Given the description of an element on the screen output the (x, y) to click on. 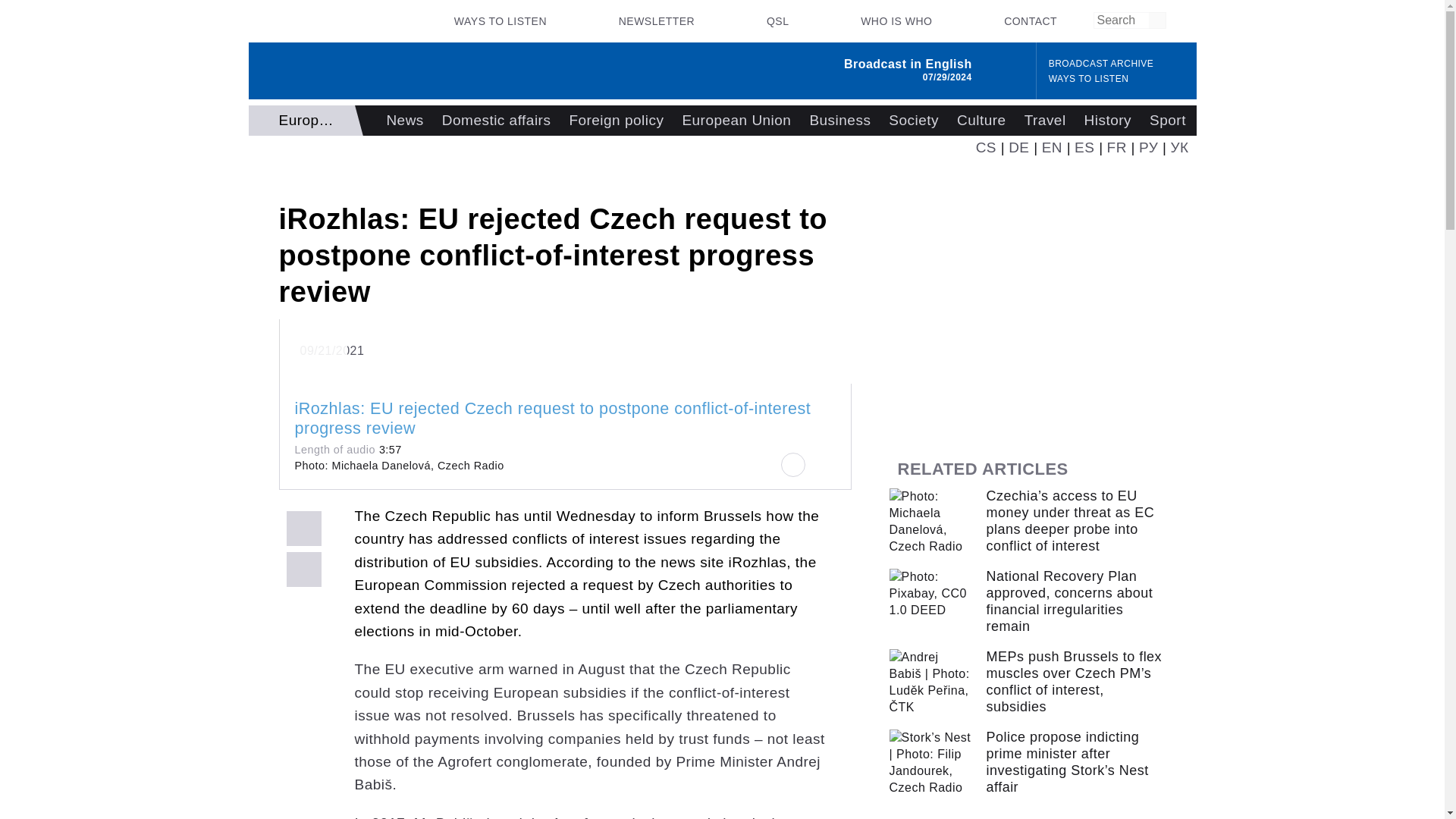
Business (839, 120)
FR (1116, 147)
Broadcast in English  (908, 63)
ES (1084, 147)
QSL (777, 21)
European Union (735, 120)
Sport (1167, 120)
Domestic affairs (496, 120)
EN (1052, 147)
News (404, 120)
Society (913, 120)
Foreign policy (615, 120)
Culture (980, 120)
BROADCAST ARCHIVE (1101, 63)
Travel (1044, 120)
